Given the description of an element on the screen output the (x, y) to click on. 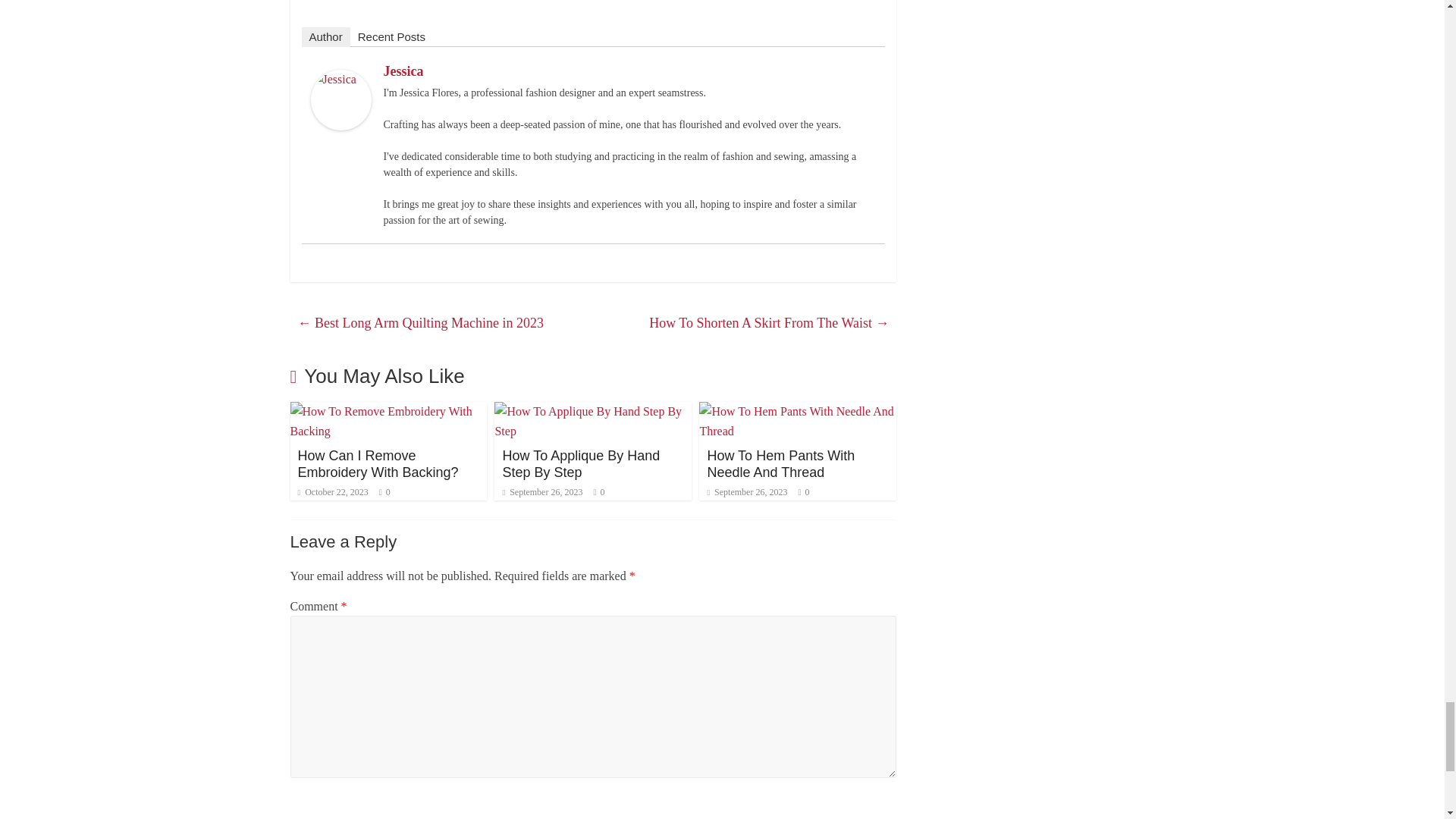
How To Hem Pants With Needle And Thread (797, 410)
How To Applique By Hand Step By Step (593, 410)
How Can I Remove Embroidery With Backing? (387, 410)
10:16 pm (332, 491)
How Can I Remove Embroidery With Backing? (377, 463)
How To Applique By Hand Step By Step (580, 463)
12:29 pm (542, 491)
